Given the description of an element on the screen output the (x, y) to click on. 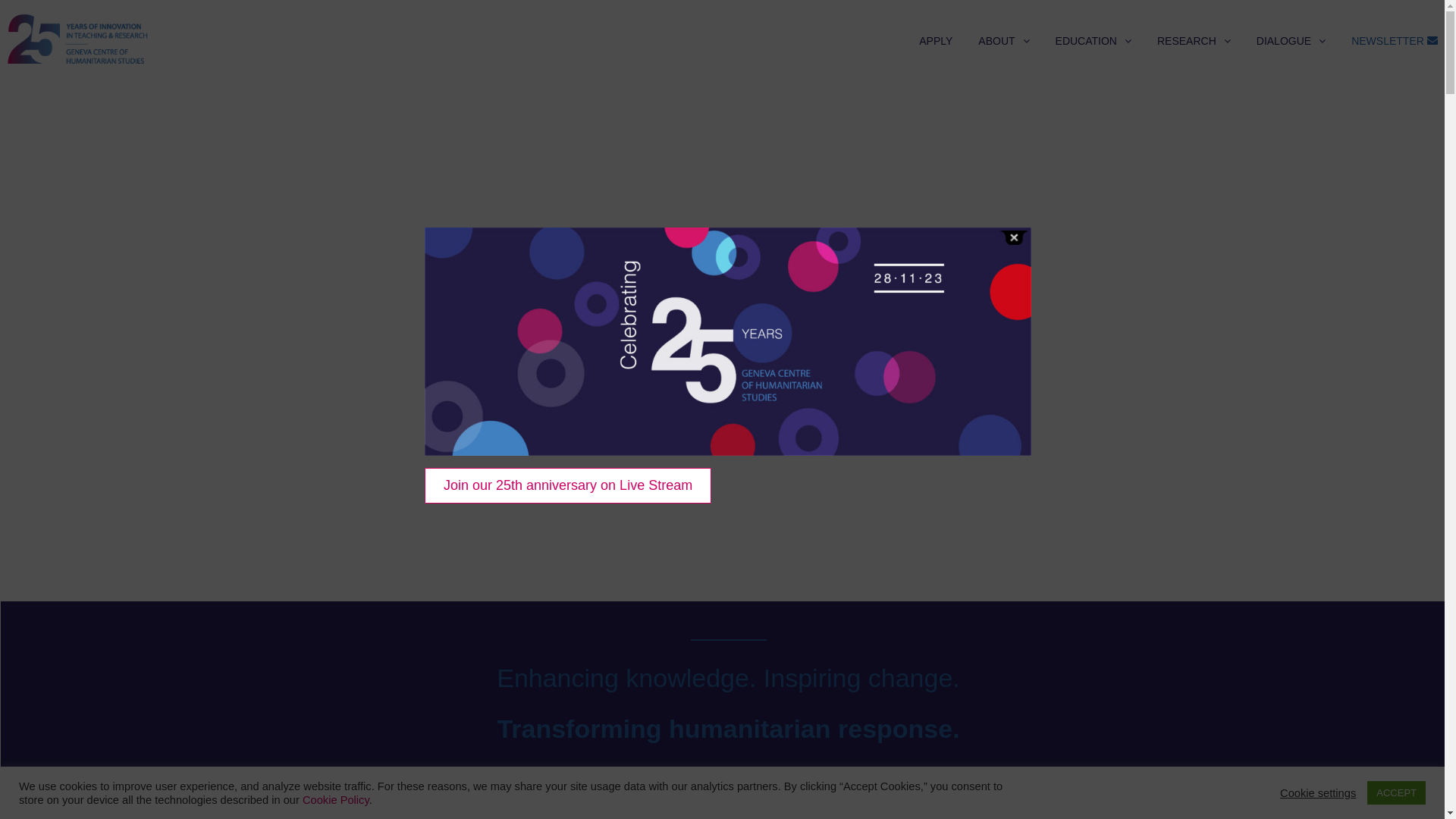
Cookie settings Element type: text (1317, 792)
Close Element type: hover (1013, 237)
ACCEPT Element type: text (1396, 792)
Join our 25th anniversary on Live Stream Element type: text (567, 485)
NEWSLETTER Element type: text (1394, 40)
APPLY Element type: text (935, 40)
Skip to content Element type: text (5, 90)
EDUCATION Element type: text (1093, 40)
ABOUT Element type: text (1003, 40)
RESEARCH Element type: text (1193, 40)
Cookie Policy Element type: text (335, 799)
DIALOGUE Element type: text (1290, 40)
